Given the description of an element on the screen output the (x, y) to click on. 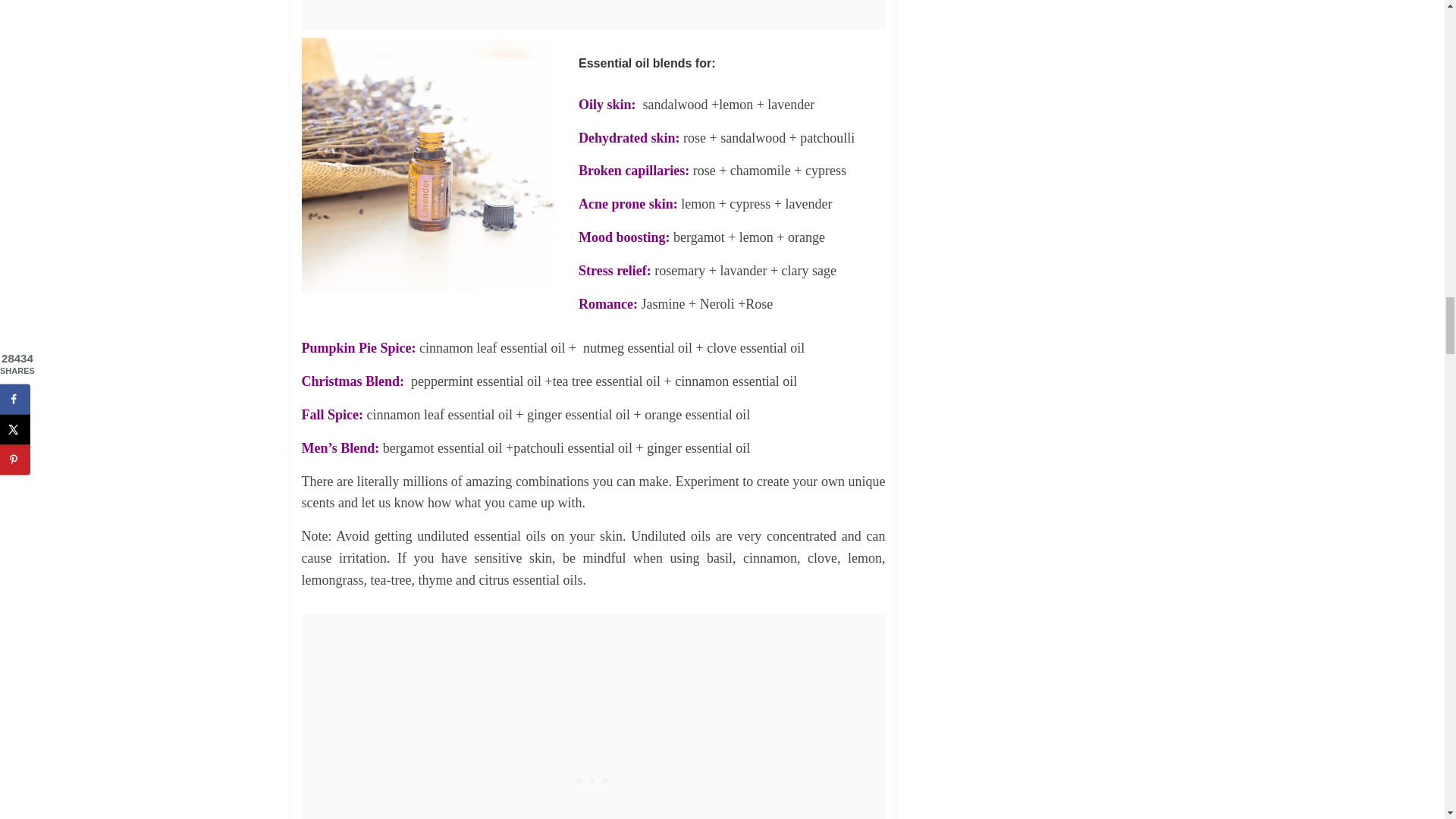
pexels-photo-390686 (428, 164)
